Given the description of an element on the screen output the (x, y) to click on. 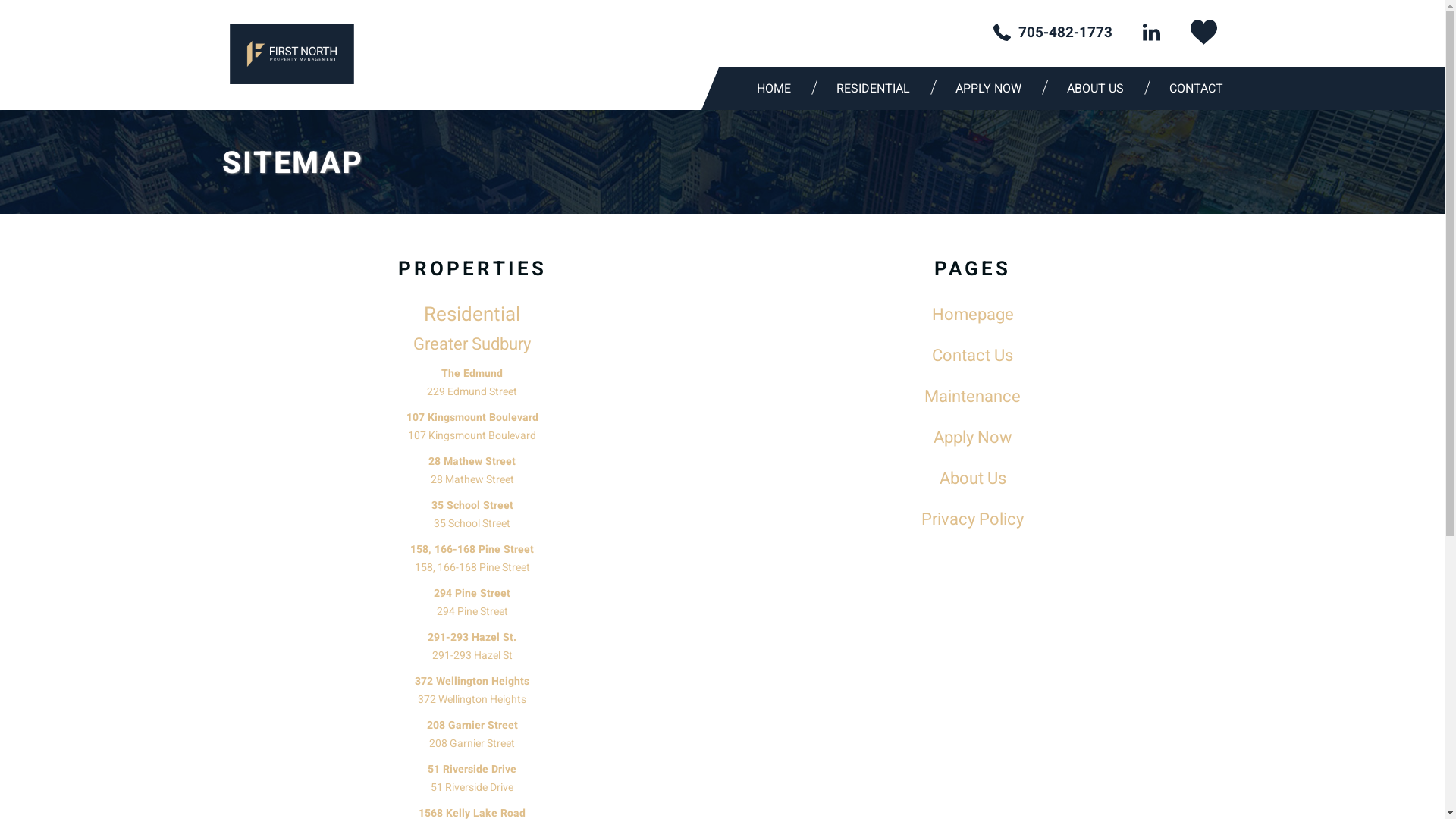
APPLY NOW Element type: text (991, 88)
About Us Element type: text (971, 478)
First North Property Management Element type: hover (290, 53)
RESIDENTIAL Element type: text (876, 88)
294 Pine Street
294 Pine Street Element type: text (471, 606)
ABOUT US Element type: text (1099, 88)
291-293 Hazel St.
291-293 Hazel St Element type: text (471, 650)
107 Kingsmount Boulevard
107 Kingsmount Boulevard Element type: text (472, 430)
705-482-1773 Element type: text (1052, 32)
CONTACT Element type: text (1195, 88)
Residential Element type: text (471, 314)
Contact Us Element type: text (972, 355)
Homepage Element type: text (972, 314)
Maintenance Element type: text (972, 396)
Privacy Policy Element type: text (972, 519)
The Edmund
229 Edmund Street Element type: text (471, 386)
372 Wellington Heights
372 Wellington Heights Element type: text (471, 694)
28 Mathew Street
28 Mathew Street Element type: text (471, 474)
HOME Element type: text (776, 88)
Greater Sudbury Element type: text (471, 344)
158, 166-168 Pine Street
158, 166-168 Pine Street Element type: text (471, 562)
208 Garnier Street
208 Garnier Street Element type: text (471, 738)
51 Riverside Drive
51 Riverside Drive Element type: text (471, 782)
Apply Now Element type: text (971, 437)
35 School Street
35 School Street Element type: text (471, 518)
